Given the description of an element on the screen output the (x, y) to click on. 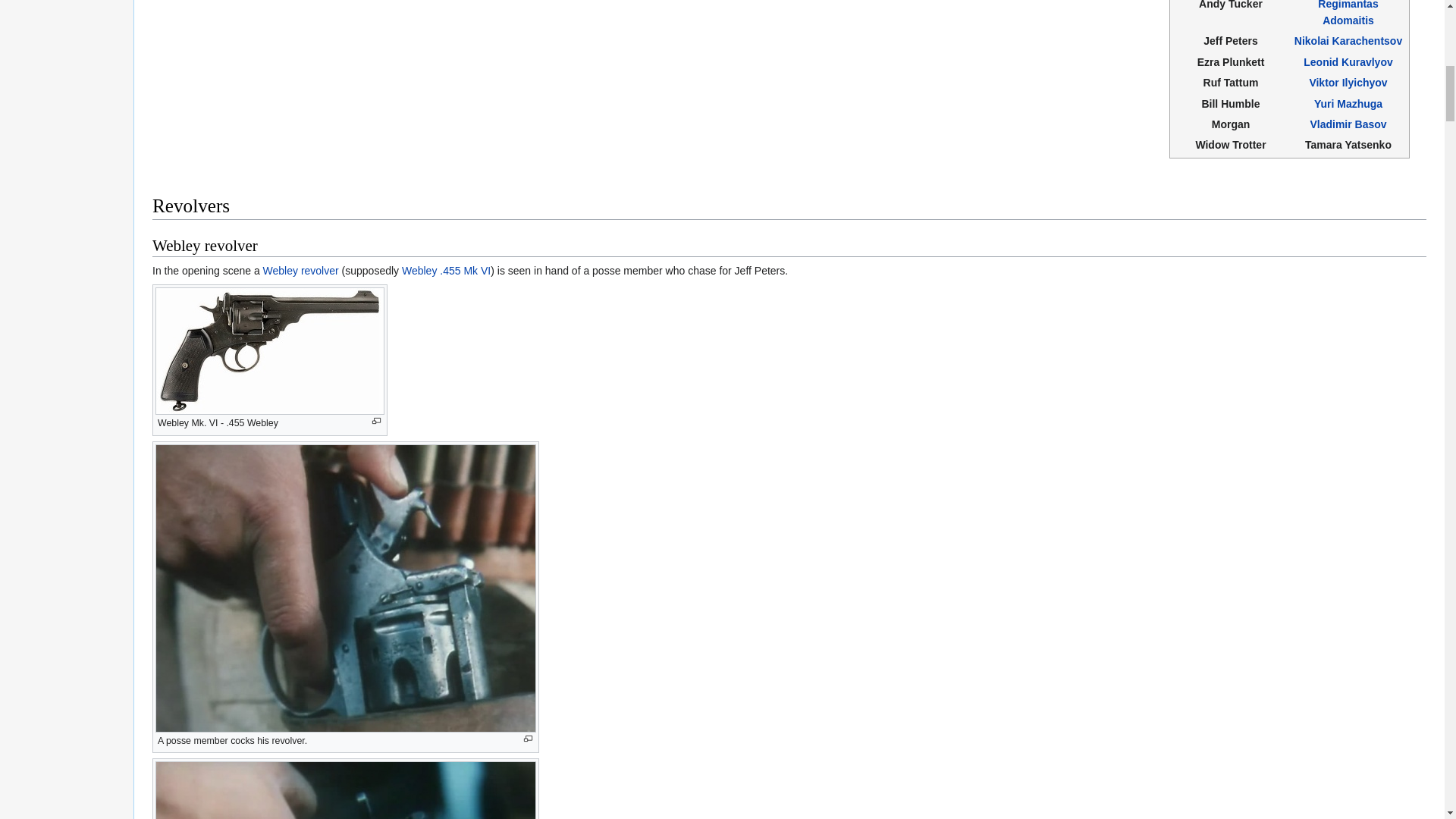
Webley revolver (301, 270)
Webley .455 Mk VI (445, 270)
Nikolai Karachentsov (1348, 40)
Enlarge (376, 420)
Webley .455 Mk VI (445, 270)
Yuri Mazhuga (1347, 103)
Viktor Ilyichyov (1347, 82)
Viktor Ilyichyov (1347, 82)
Leonid Kuravlyov (1347, 61)
Enlarge (528, 738)
Regimantas Adomaitis (1347, 13)
Vladimir Basov (1347, 123)
Webley revolver (301, 270)
Vladimir Basov (1347, 123)
Leonid Kuravlyov (1347, 61)
